Given the description of an element on the screen output the (x, y) to click on. 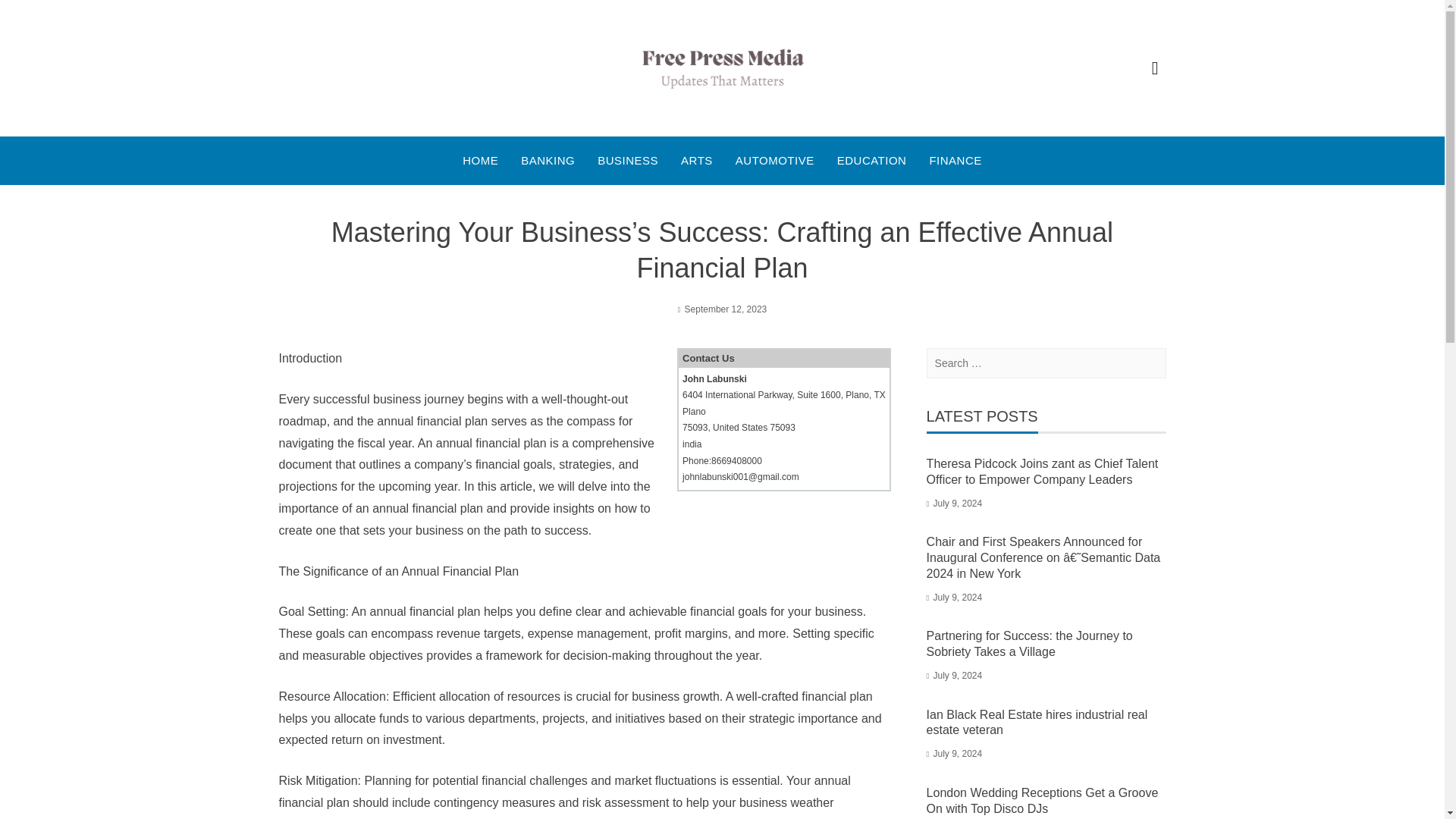
BUSINESS (627, 160)
EDUCATION (872, 160)
Search (32, 15)
London Wedding Receptions Get a Groove On with Top Disco DJs (1042, 800)
ARTS (697, 160)
FINANCE (954, 160)
HOME (480, 160)
BANKING (548, 160)
